Given the description of an element on the screen output the (x, y) to click on. 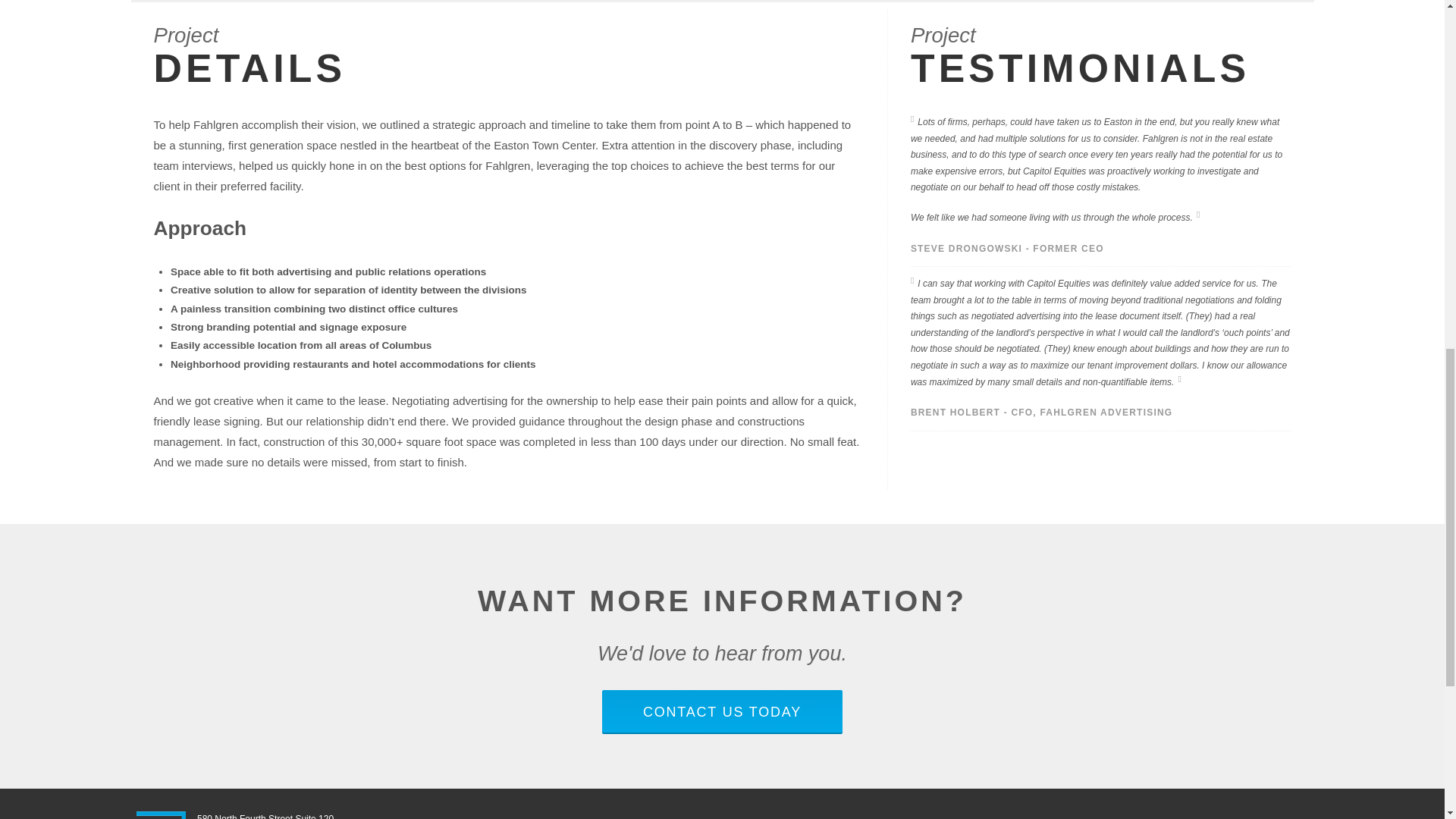
CONTACT US TODAY (722, 712)
Capitol Equities (161, 815)
PROPERTY SEARCH (784, 815)
OUR DIFFERENCE (974, 815)
